Given the description of an element on the screen output the (x, y) to click on. 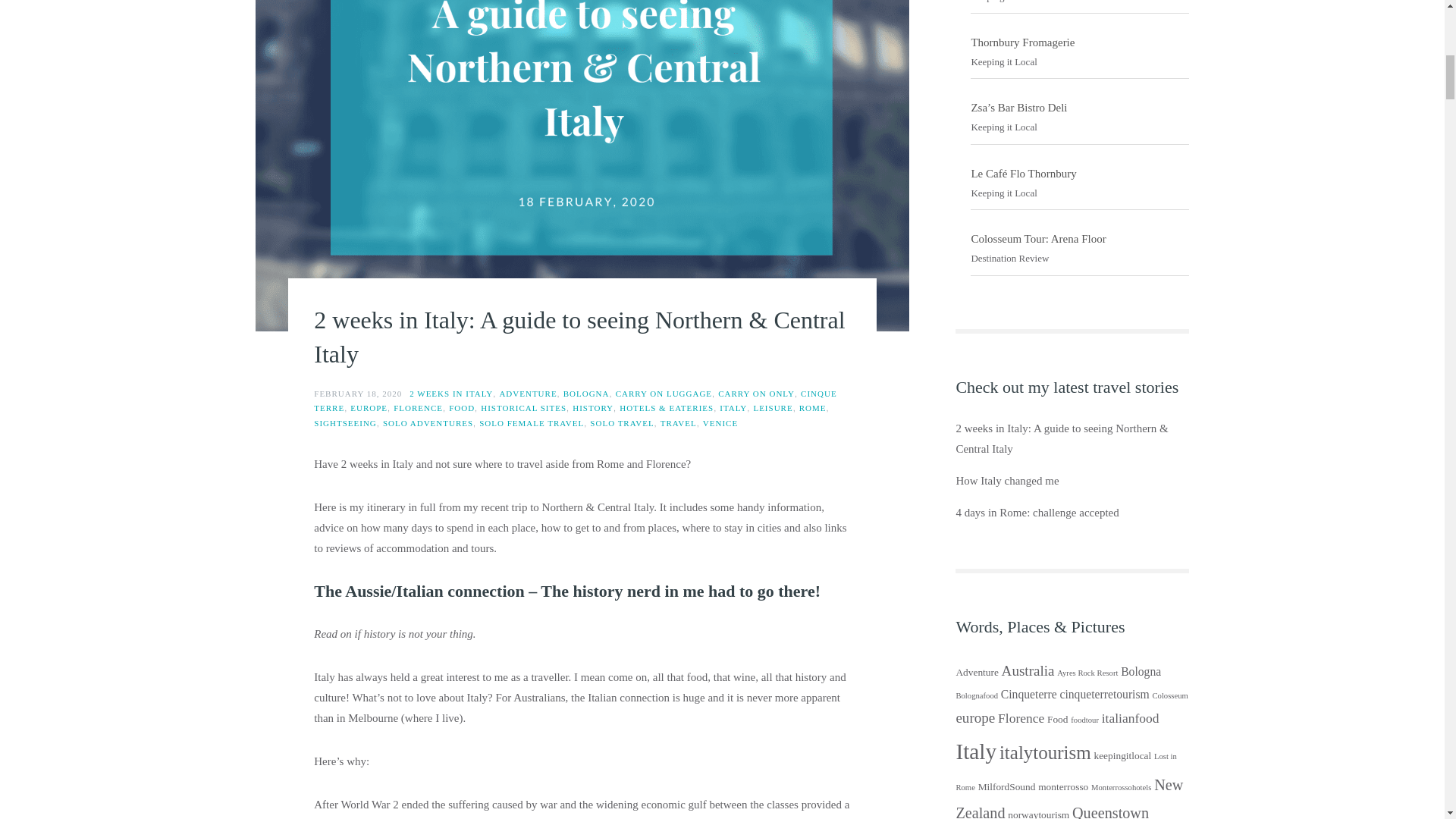
FOOD (461, 407)
CARRY ON ONLY (755, 393)
BOLOGNA (586, 393)
EUROPE (368, 407)
2 WEEKS IN ITALY (451, 393)
CINQUE TERRE (574, 401)
CARRY ON LUGGAGE (663, 393)
FEBRUARY 18, 2020 (357, 393)
FLORENCE (417, 407)
ADVENTURE (527, 393)
Colosseum Tour: Arena Floor (1038, 238)
Thornbury Fromagerie (1022, 42)
HISTORICAL SITES (523, 407)
